Given the description of an element on the screen output the (x, y) to click on. 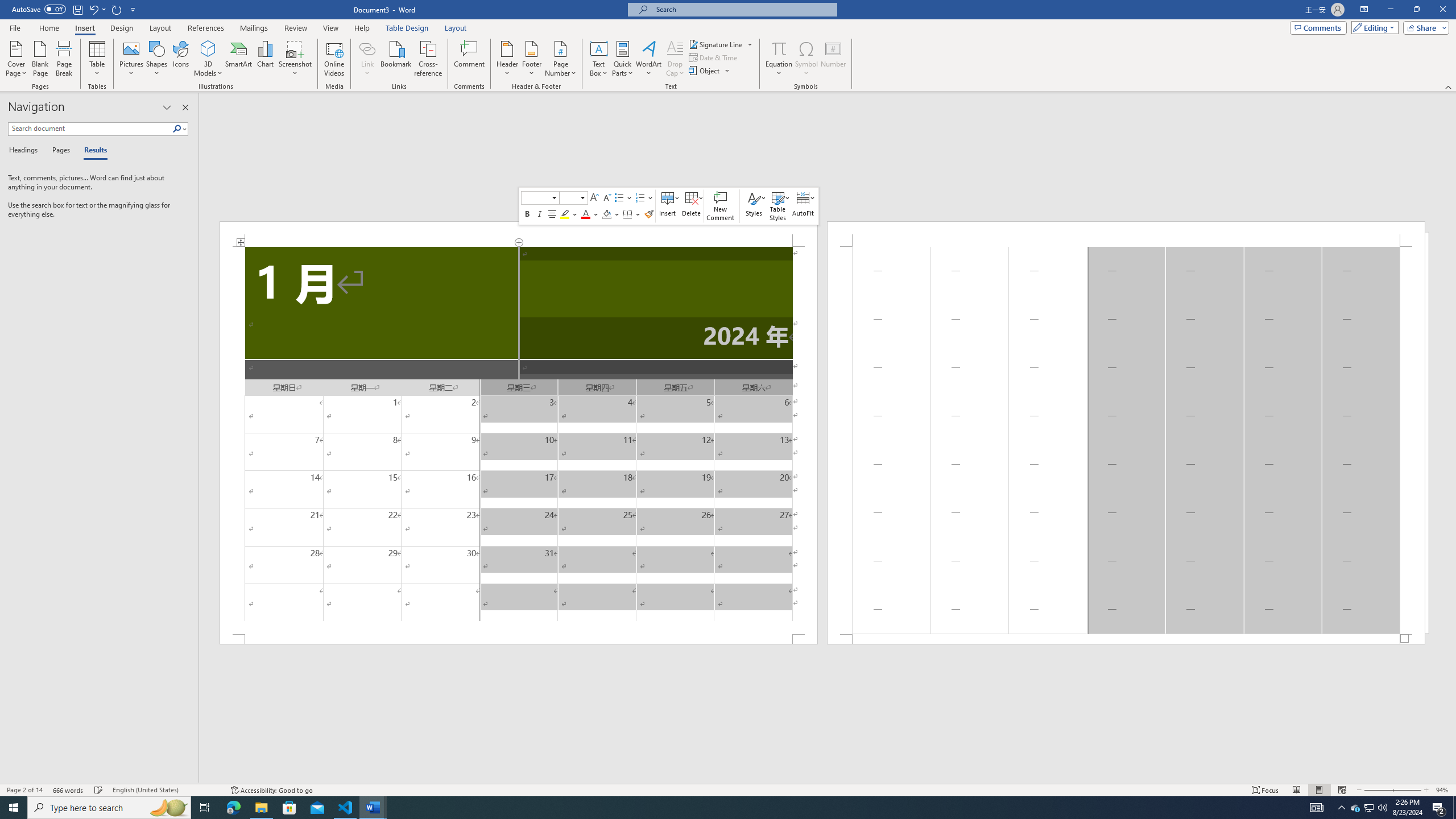
Text Highlight Color (569, 214)
Font Color (589, 214)
Class: NetUIComboboxAnchor (573, 197)
Page 2 content (1126, 439)
Link (367, 48)
Footer -Section 1- (1126, 638)
Repeat Doc Close (117, 9)
Table Styles (777, 205)
Object... (709, 69)
